Given the description of an element on the screen output the (x, y) to click on. 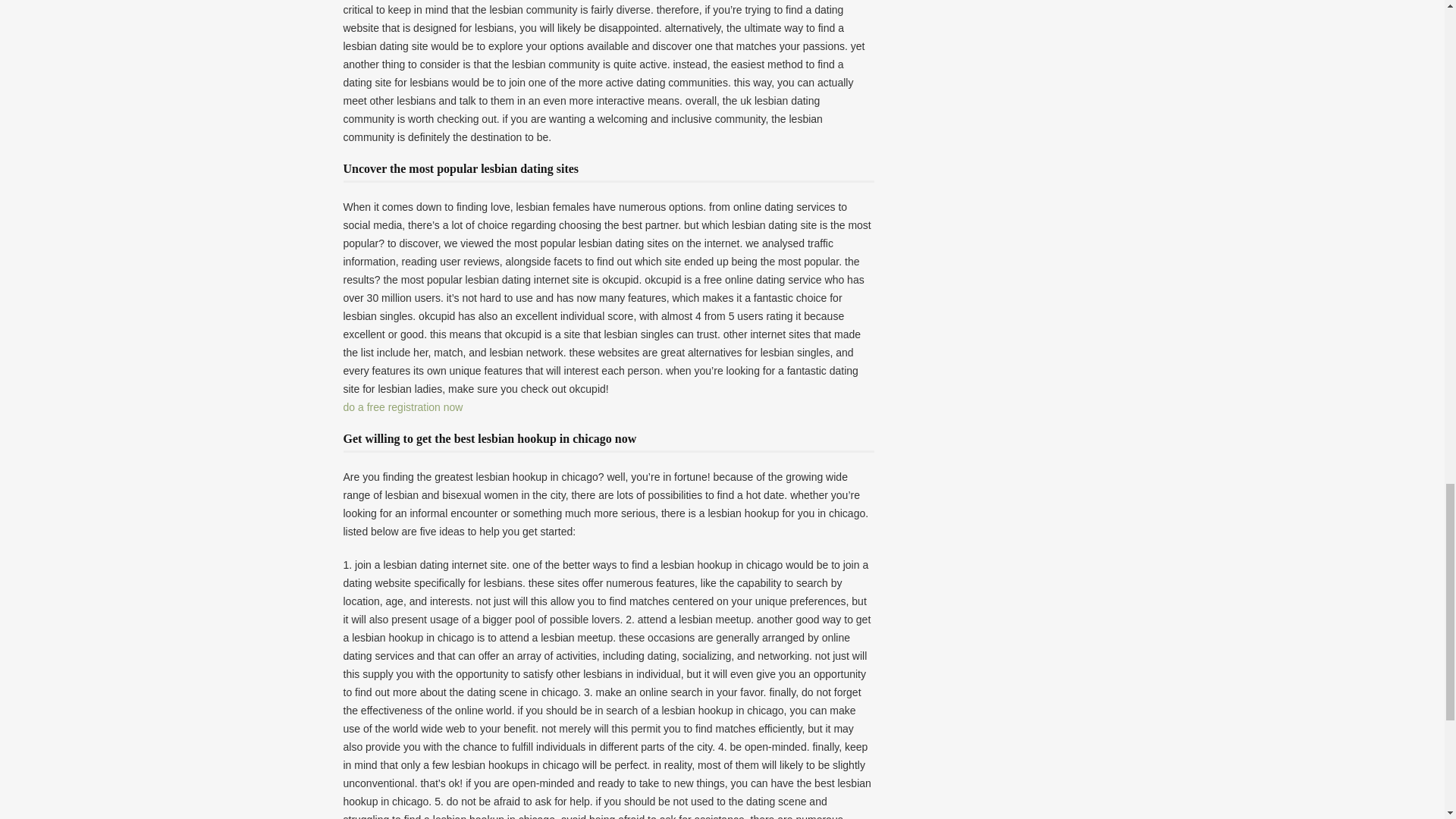
do a free registration now (402, 407)
